Given the description of an element on the screen output the (x, y) to click on. 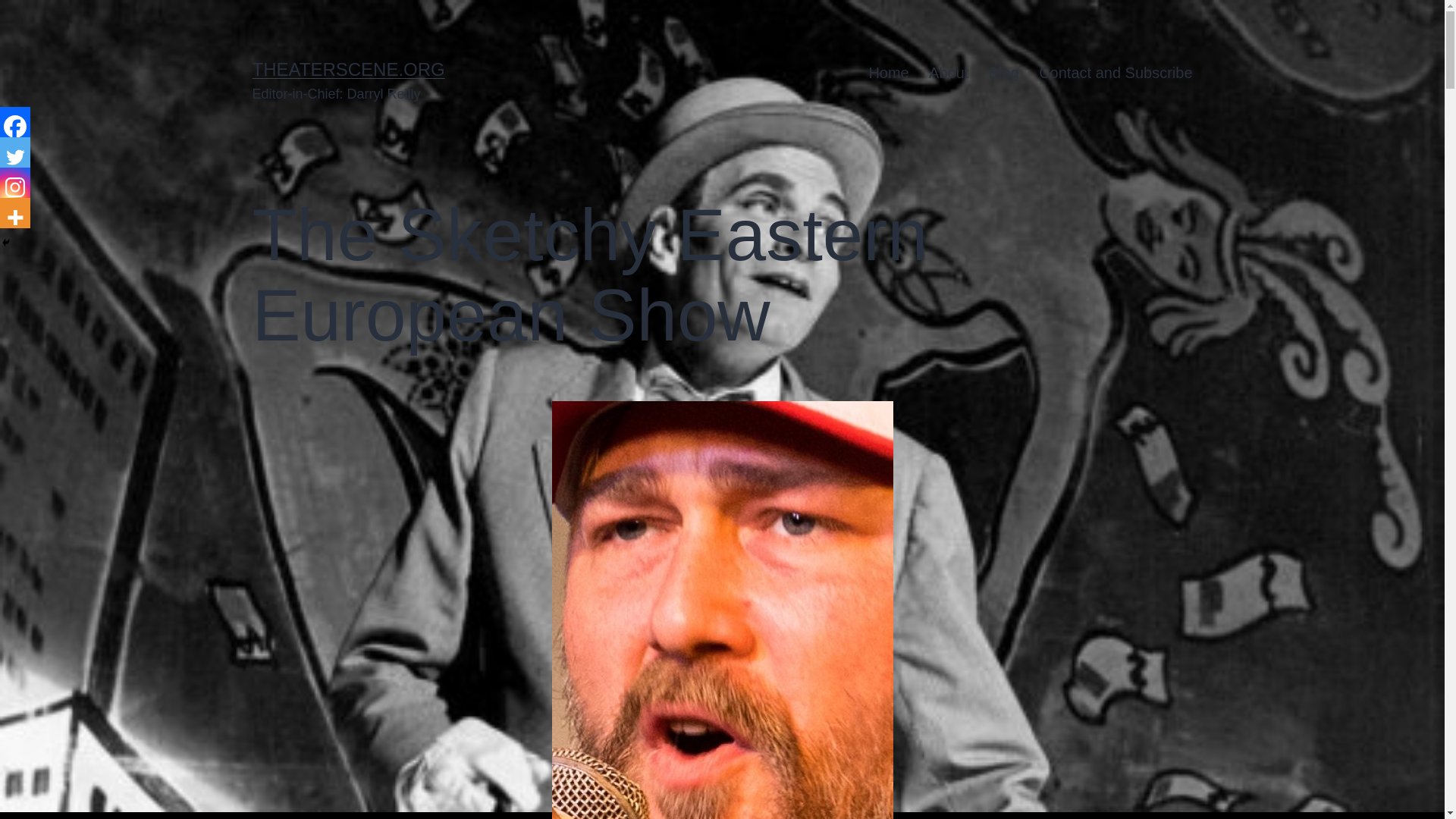
Instagram (15, 182)
Contact and Subscribe (1115, 72)
Facebook (15, 122)
More (15, 213)
Twitter (15, 152)
Hide (5, 242)
Blog (1003, 72)
THEATERSCENE.ORG (347, 68)
Home (888, 72)
About (948, 72)
